Given the description of an element on the screen output the (x, y) to click on. 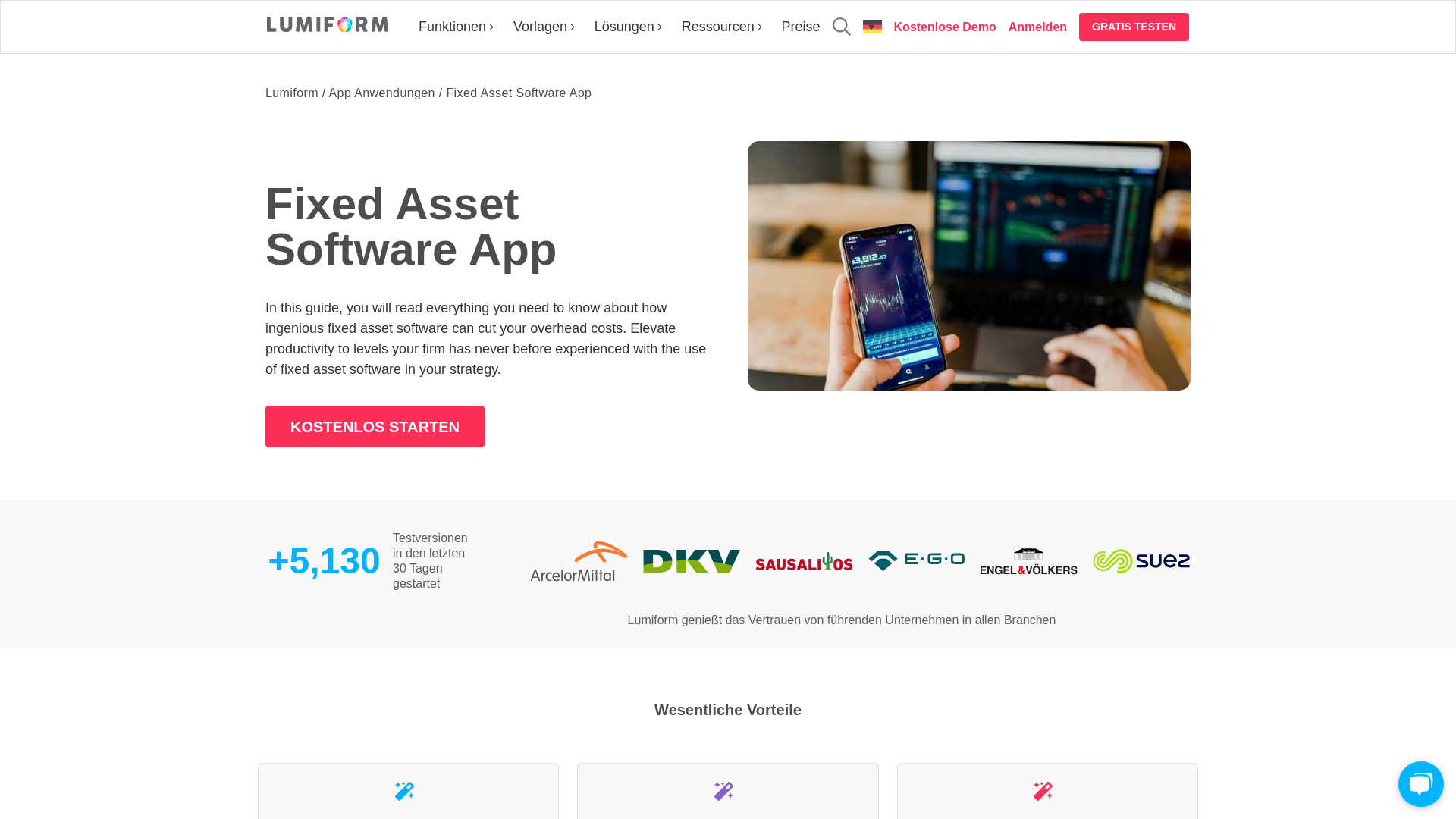
Vorlagen (544, 26)
Funktionen (457, 26)
Chat Widget (1418, 782)
